Given the description of an element on the screen output the (x, y) to click on. 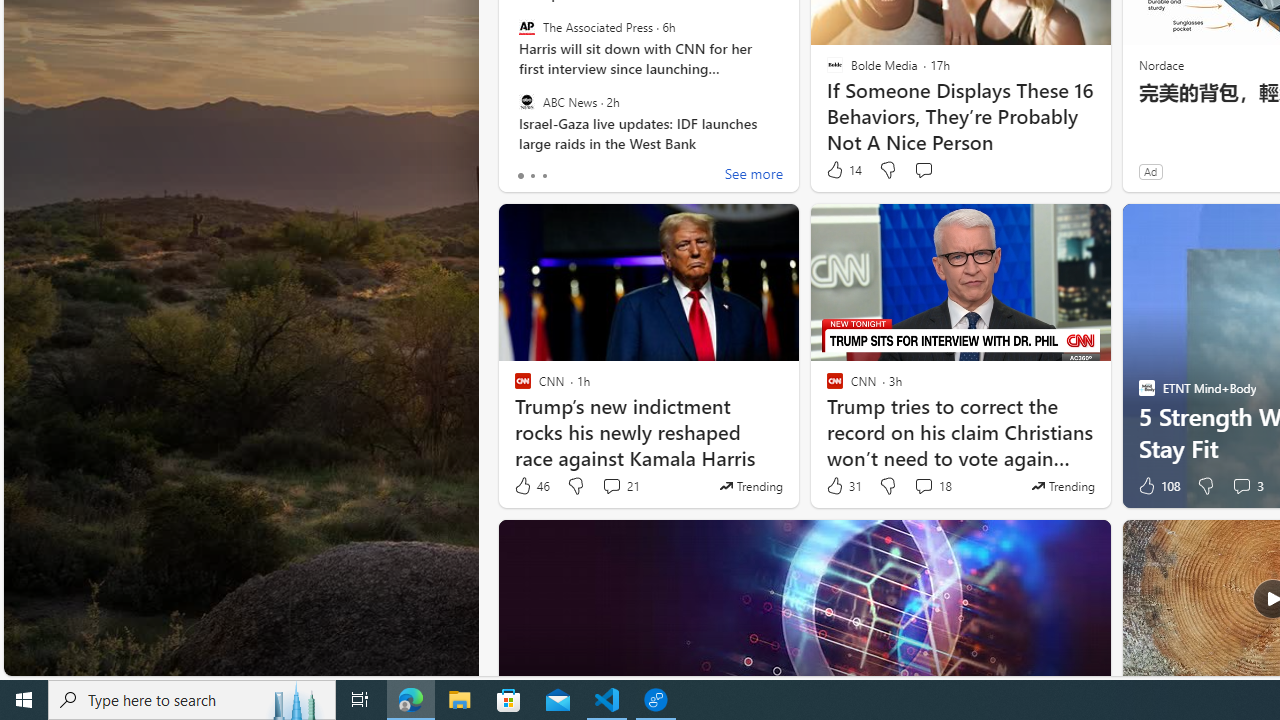
14 Like (843, 170)
The Associated Press (526, 27)
This story is trending (1062, 485)
View comments 18 Comment (923, 485)
View comments 3 Comment (1247, 485)
View comments 21 Comment (611, 485)
